Given the description of an element on the screen output the (x, y) to click on. 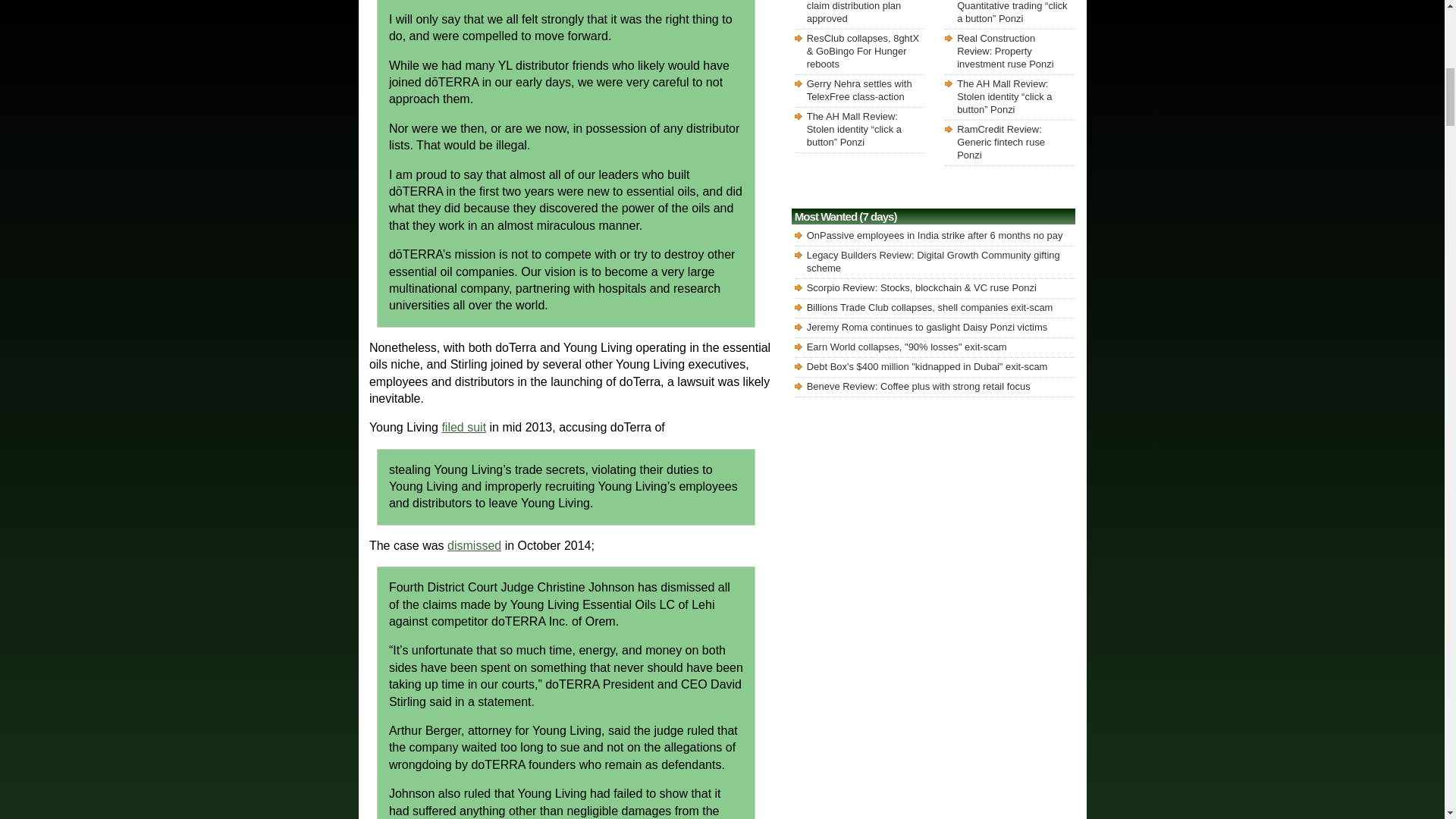
dismissed (473, 545)
filed suit (463, 427)
